Given the description of an element on the screen output the (x, y) to click on. 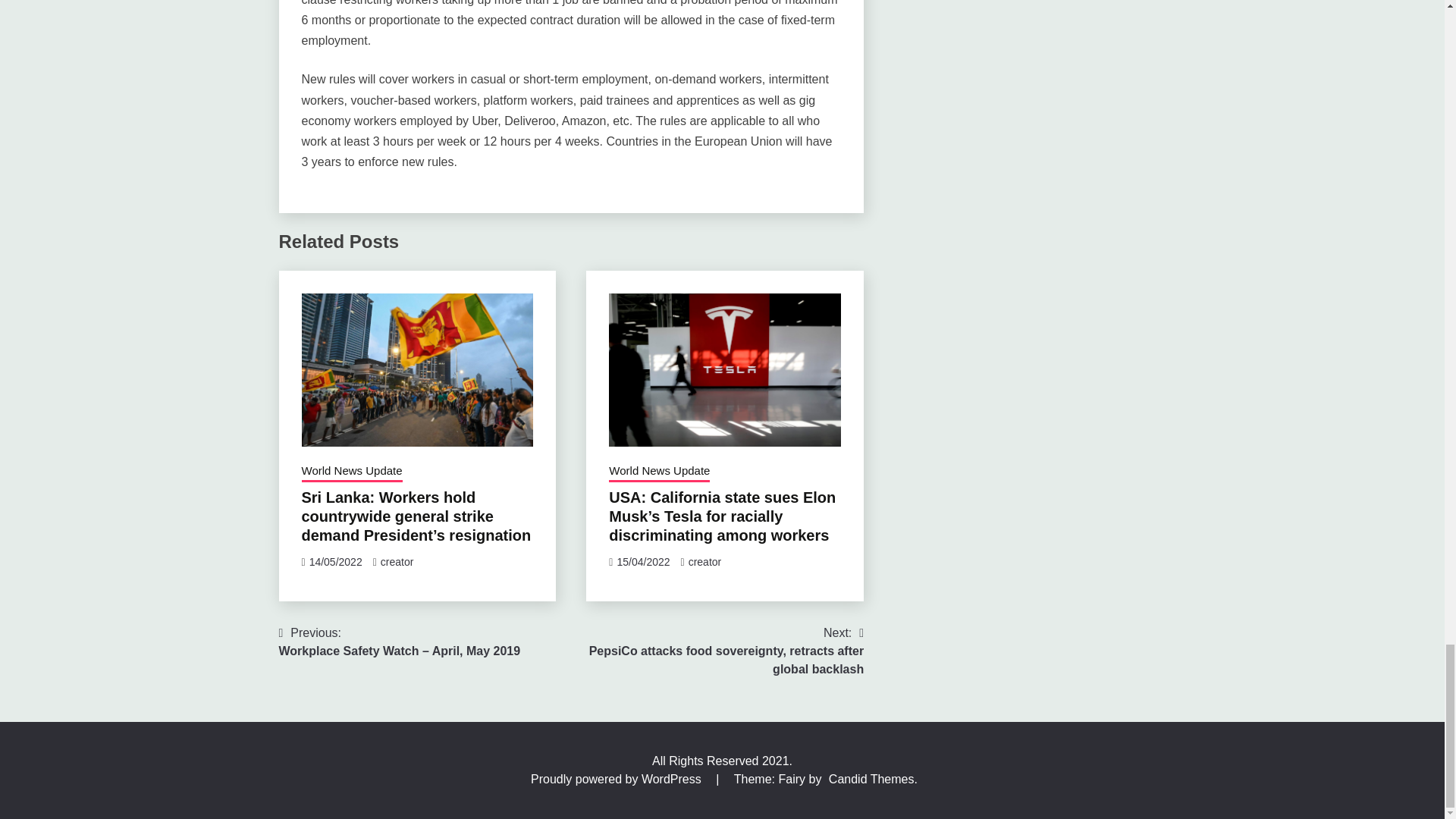
World News Update (659, 472)
World News Update (352, 472)
creator (396, 562)
